Given the description of an element on the screen output the (x, y) to click on. 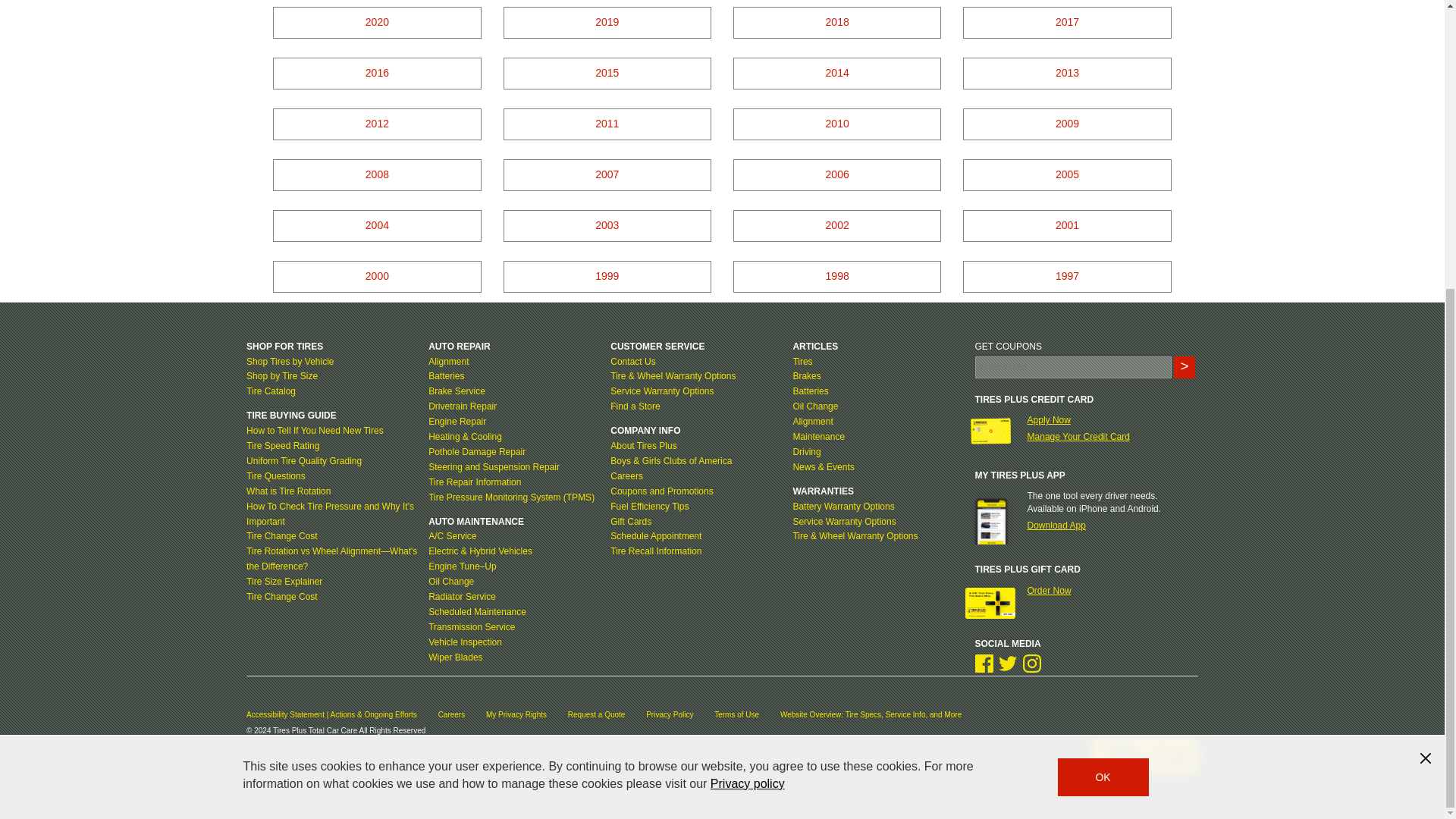
agree button (1102, 338)
close button (1425, 319)
Facebook (983, 663)
Privacy policy (747, 345)
Twitter (1007, 663)
Instagram (1032, 663)
Enter Email (1073, 367)
